Given the description of an element on the screen output the (x, y) to click on. 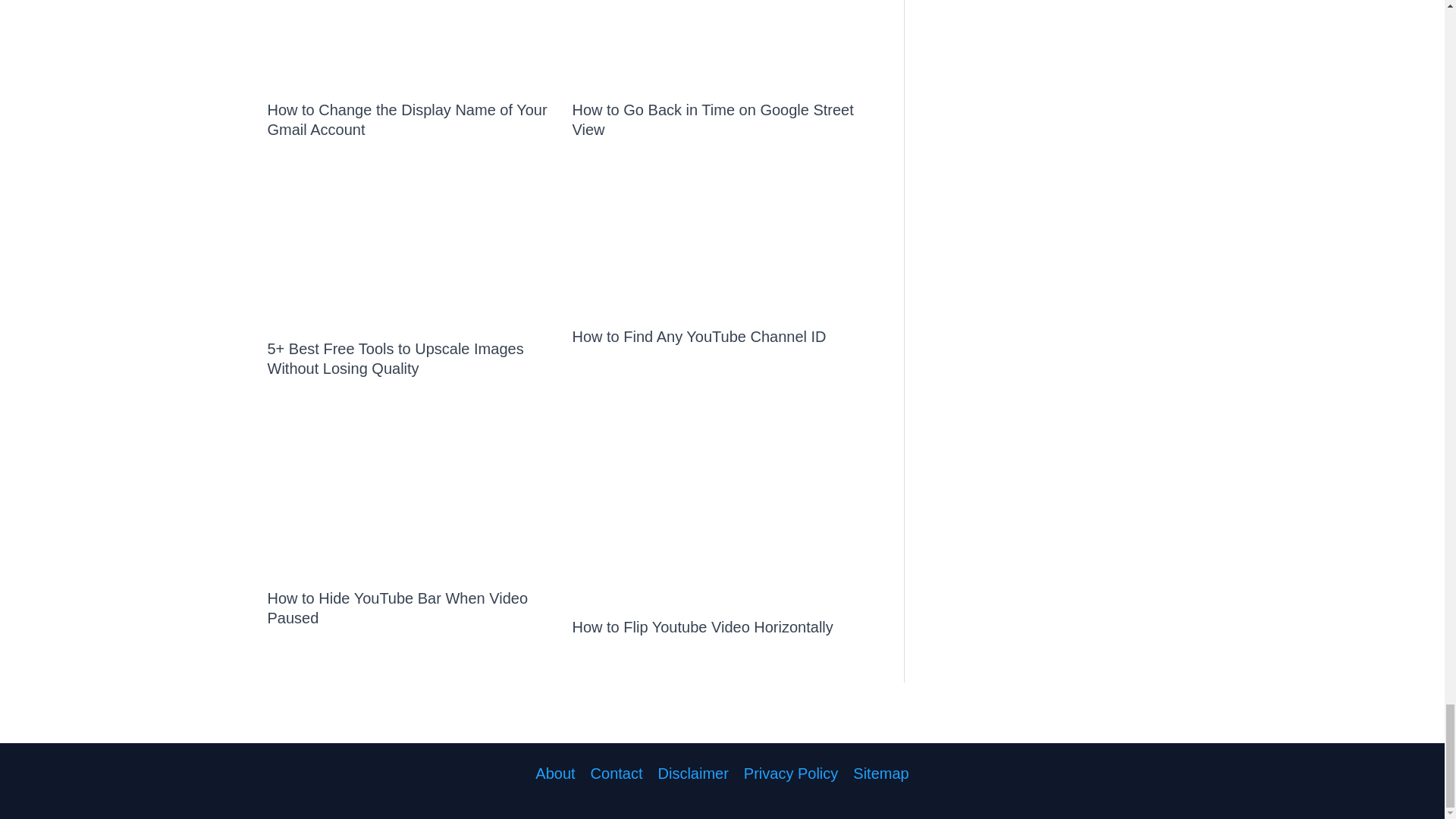
Contact (616, 773)
nco 1 - How to Find Any YouTube Channel ID 28 (714, 242)
How to Change the Display Name of Your Gmail Account (406, 119)
youtube video - How to Hide YouTube Bar When Video Paused 29 (409, 492)
Disclaimer (693, 773)
How to Flip Youtube Video Horizontally (702, 627)
How to Find Any YouTube Channel ID (698, 336)
How to Go Back in Time on Google Street View (712, 119)
Privacy Policy (790, 773)
Flip Video icon - How to Flip Youtube Video Horizontally 30 (714, 507)
How to Hide YouTube Bar When Video Paused (396, 607)
About (558, 773)
